Given the description of an element on the screen output the (x, y) to click on. 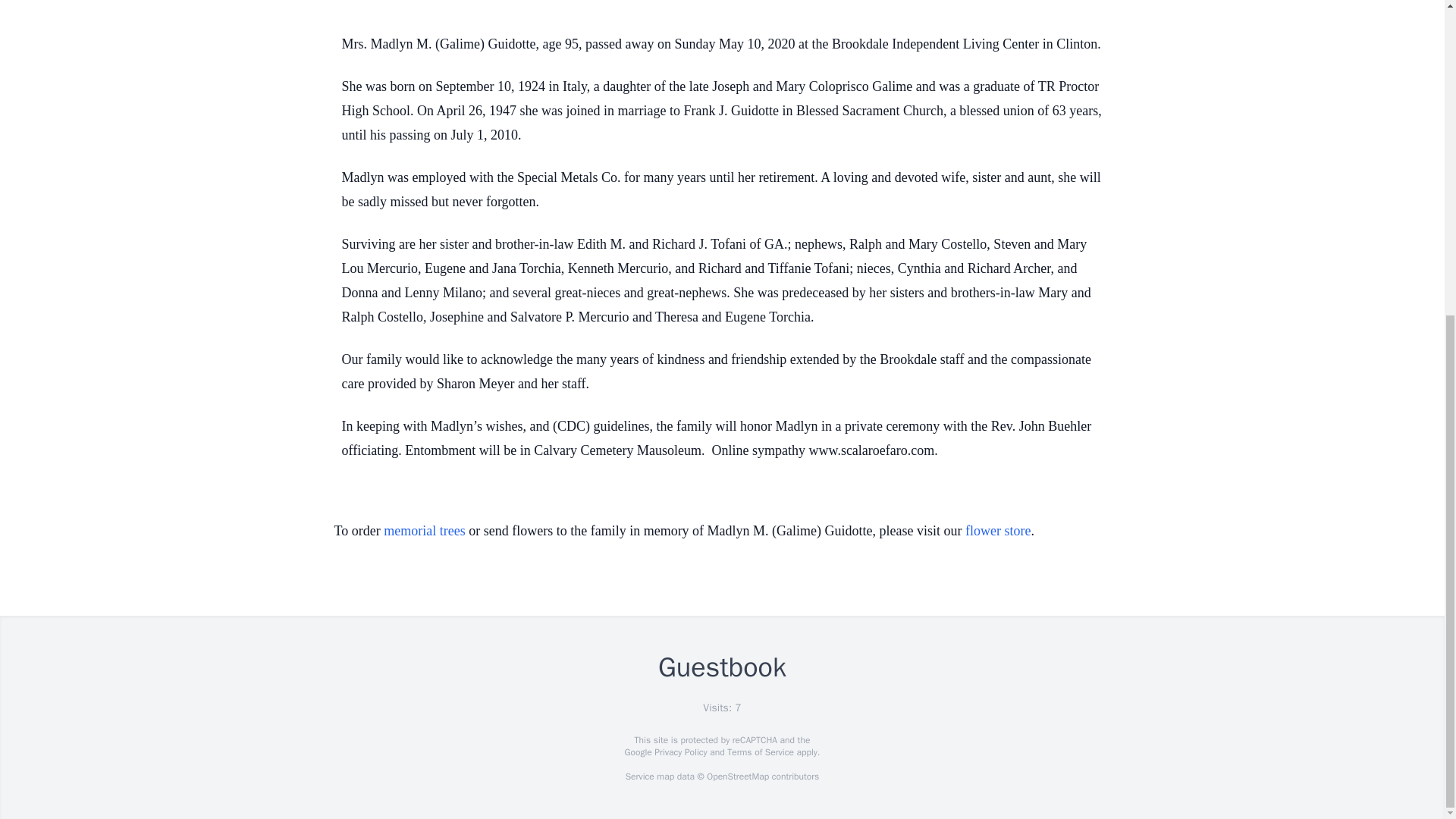
flower store (997, 530)
memorial trees (424, 530)
Privacy Policy (679, 752)
Terms of Service (759, 752)
OpenStreetMap (737, 776)
